Given the description of an element on the screen output the (x, y) to click on. 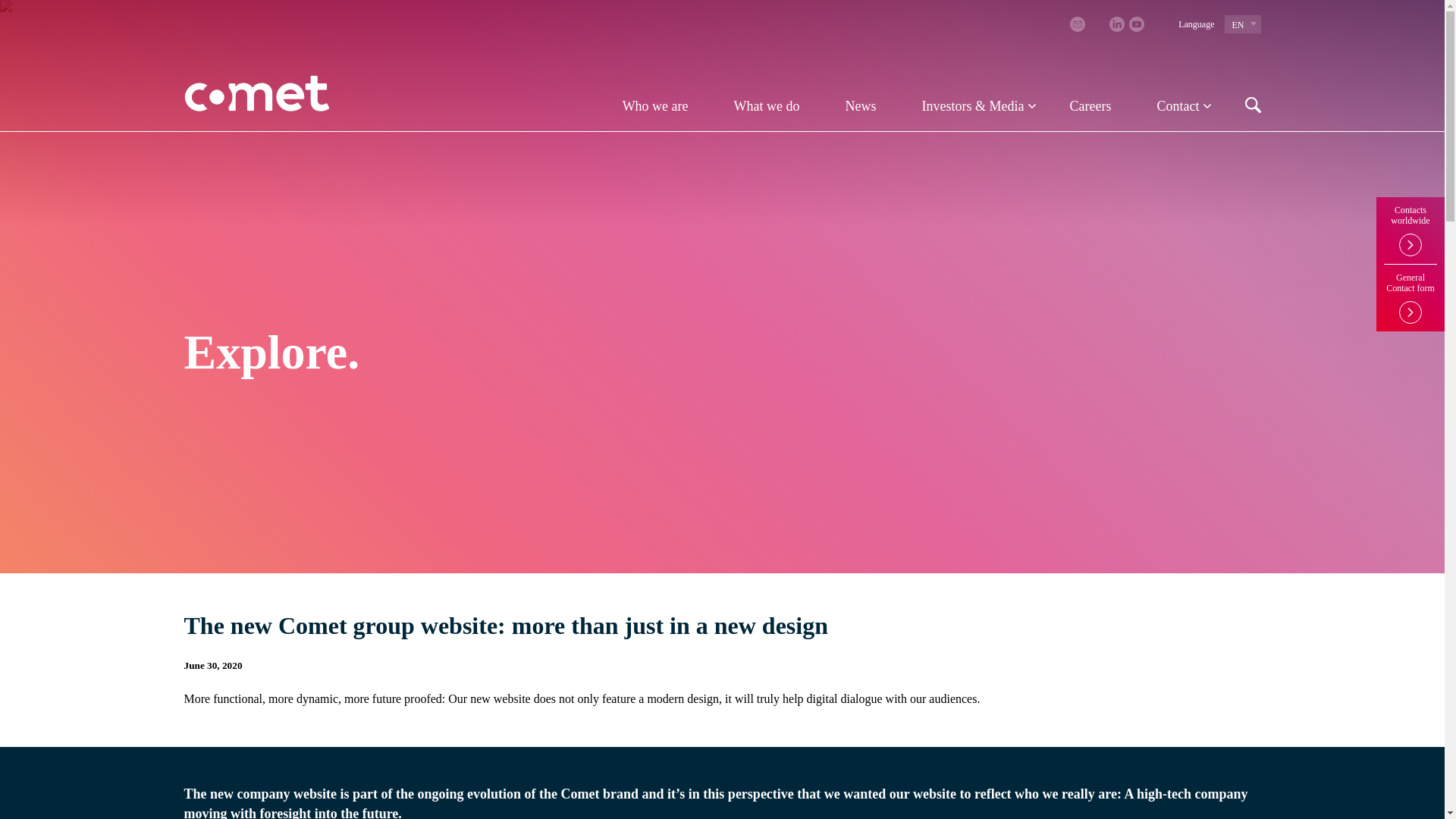
General Contact form (1410, 293)
Contact (1178, 105)
What we do (766, 105)
Search (1247, 67)
Who we are (655, 105)
Careers (1091, 105)
Contacts worldwide (1410, 230)
News (860, 105)
